Given the description of an element on the screen output the (x, y) to click on. 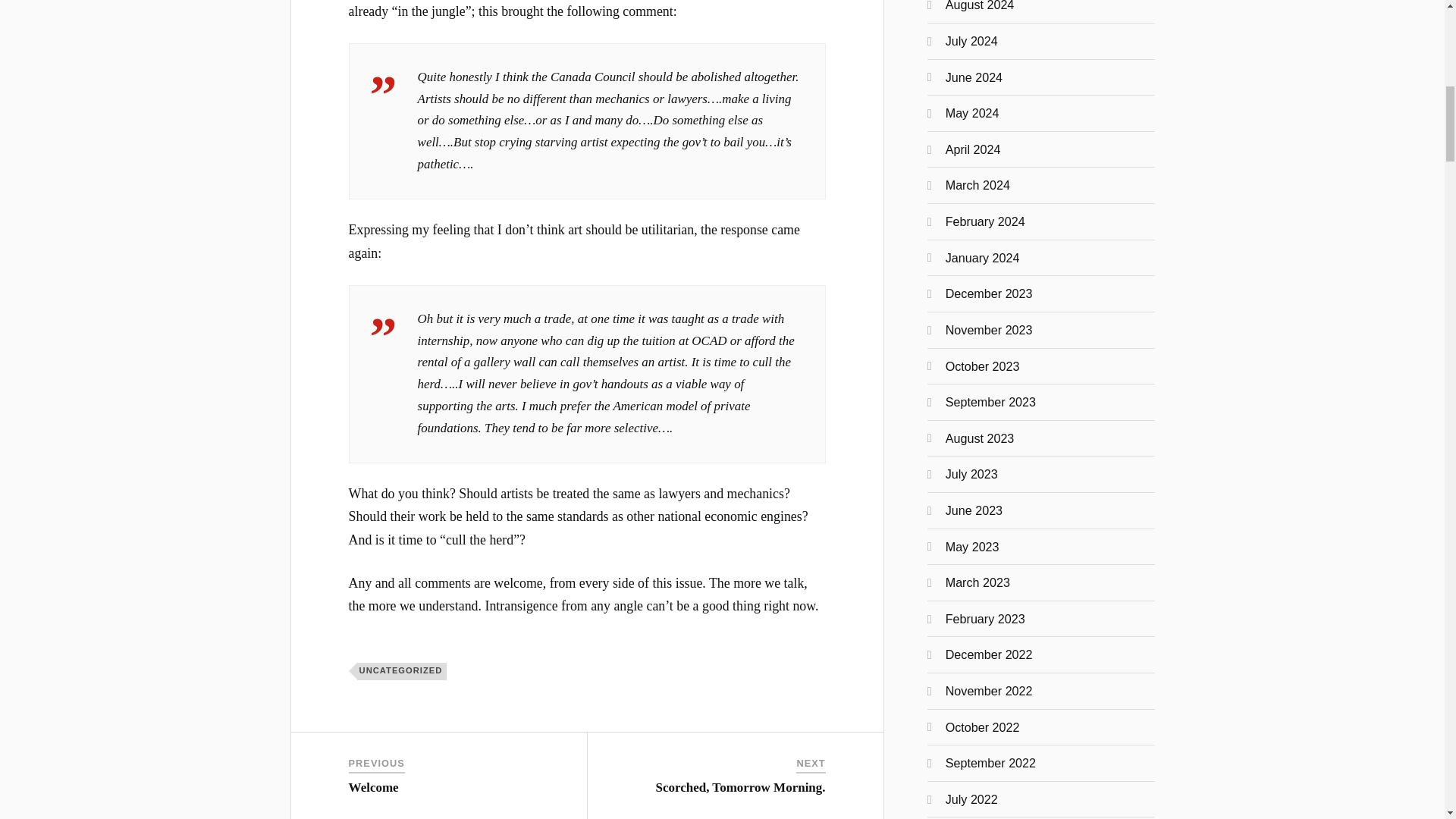
March 2024 (977, 184)
February 2024 (984, 221)
July 2024 (970, 40)
December 2023 (988, 293)
April 2024 (972, 149)
Welcome (373, 787)
UNCATEGORIZED (401, 670)
January 2024 (982, 257)
June 2024 (973, 77)
August 2024 (979, 5)
